Given the description of an element on the screen output the (x, y) to click on. 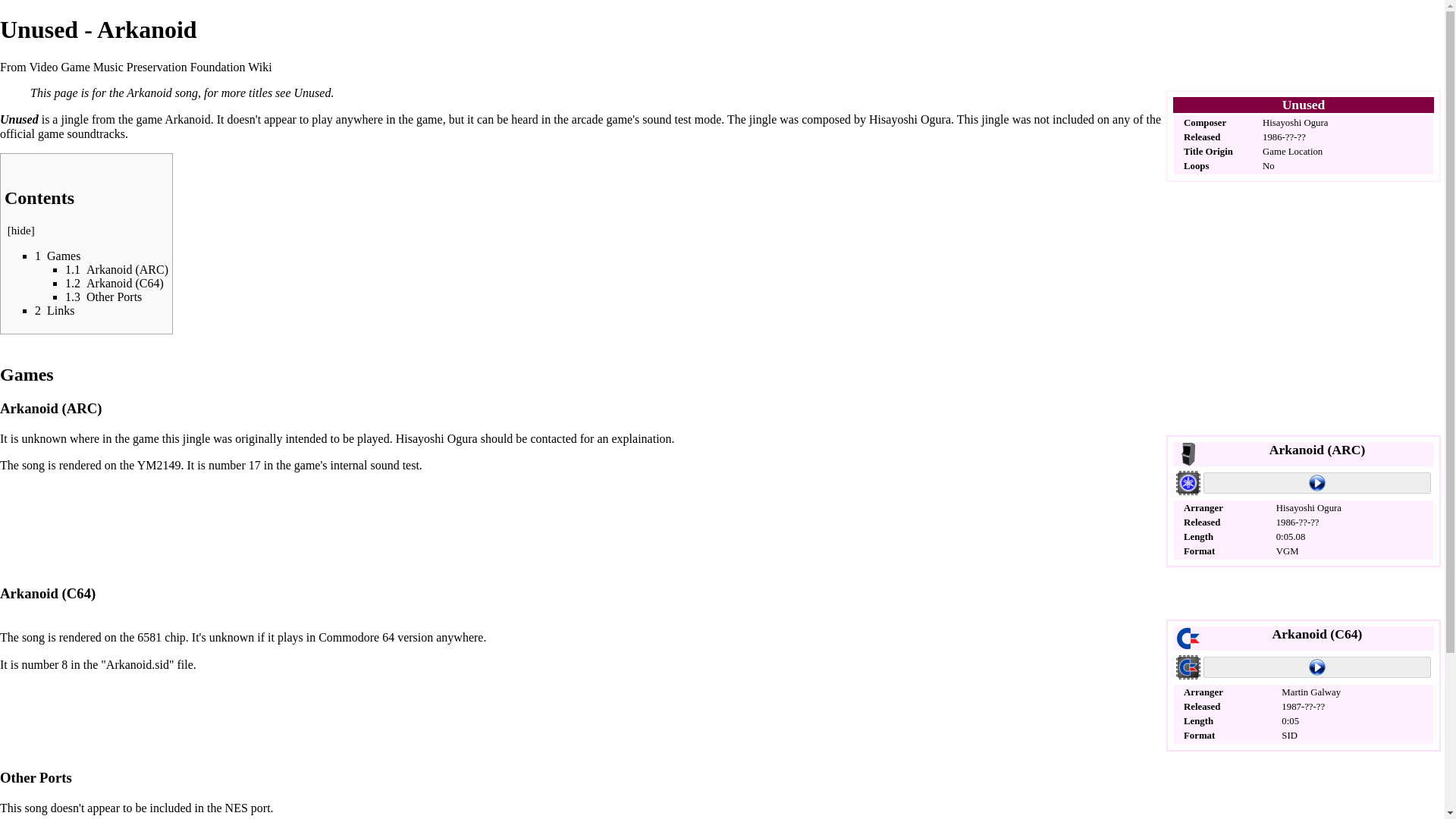
YM2149 (158, 464)
Hisayoshi Ogura (1308, 507)
hide (20, 230)
1.3 Other Ports (103, 296)
Hisayoshi Ogura (1294, 122)
Unused (312, 92)
Hisayoshi Ogura (436, 438)
1 Games (57, 255)
2 Links (54, 309)
Hisayoshi Ogura (436, 438)
Hisayoshi Ogura (909, 119)
Play sound (1317, 667)
Output - SID (1187, 666)
SID (1289, 735)
Output - SSG (1187, 481)
